Given the description of an element on the screen output the (x, y) to click on. 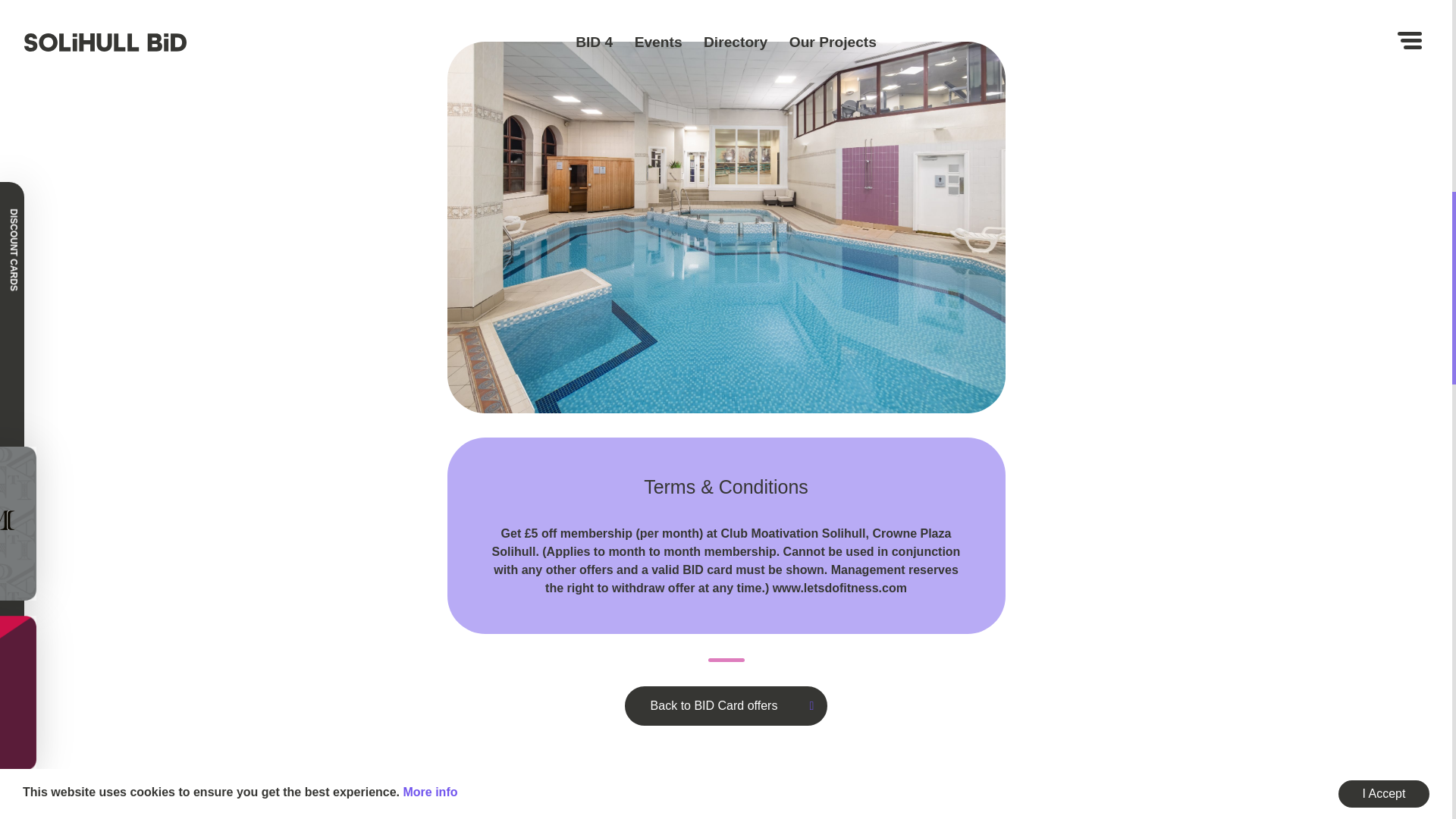
Back to BID Card offers (726, 705)
